Given the description of an element on the screen output the (x, y) to click on. 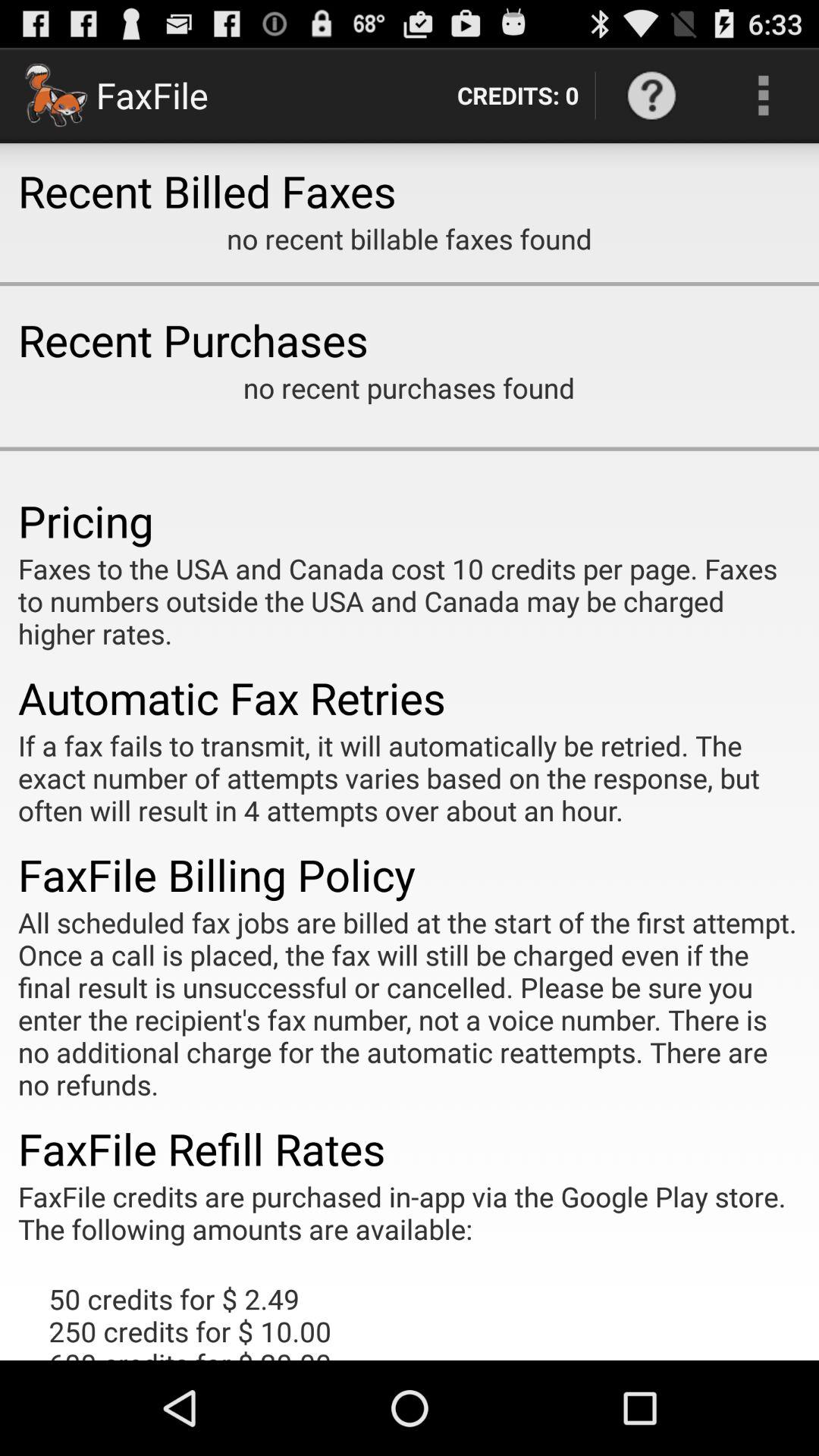
click the icon above no recent billable icon (651, 95)
